Given the description of an element on the screen output the (x, y) to click on. 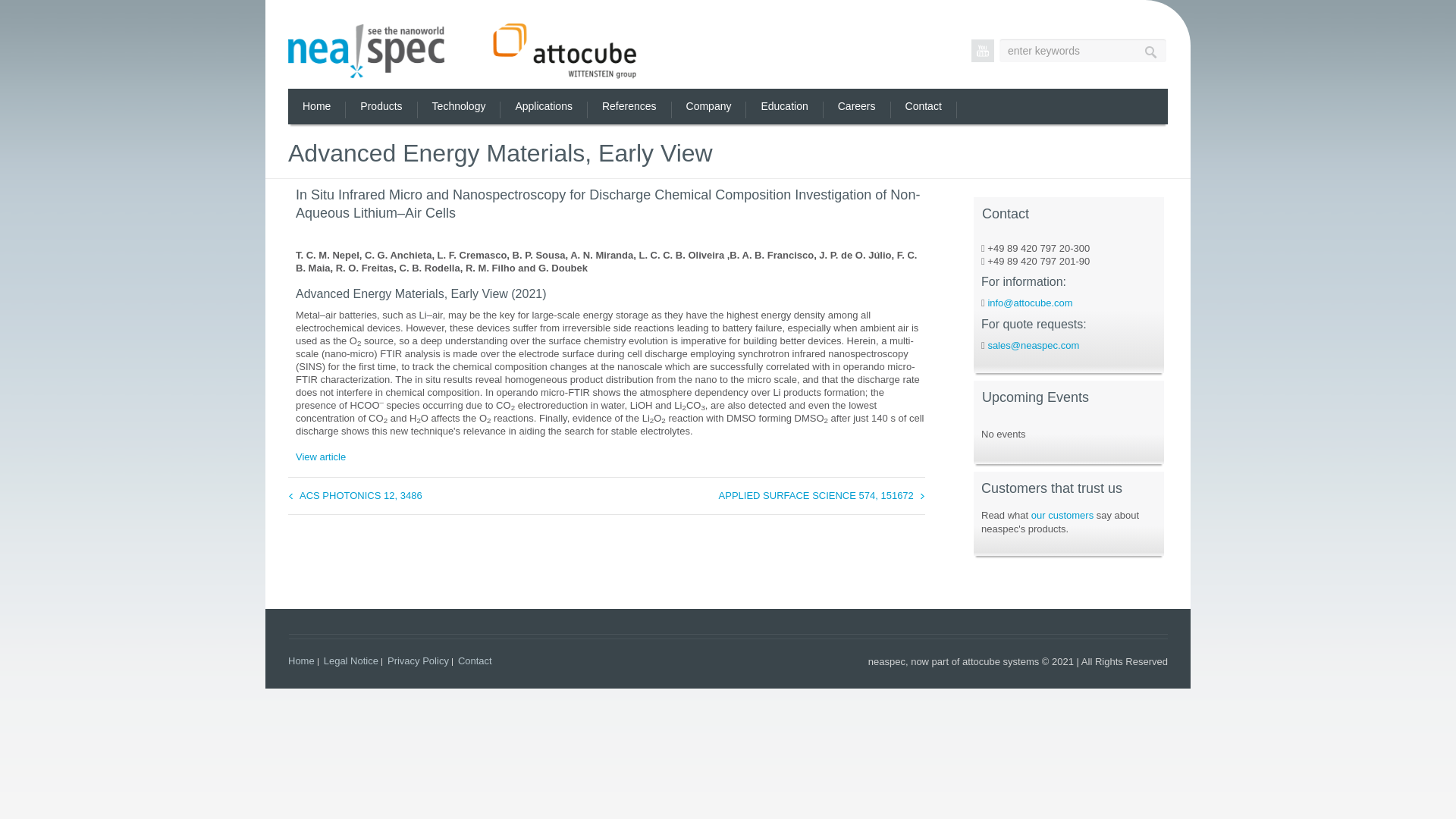
References (628, 106)
Technology (458, 106)
Home (316, 106)
Applications (543, 106)
Products (380, 106)
Education (783, 106)
neaspec (462, 50)
Company (708, 106)
Contact (922, 106)
Careers (856, 106)
